Given the description of an element on the screen output the (x, y) to click on. 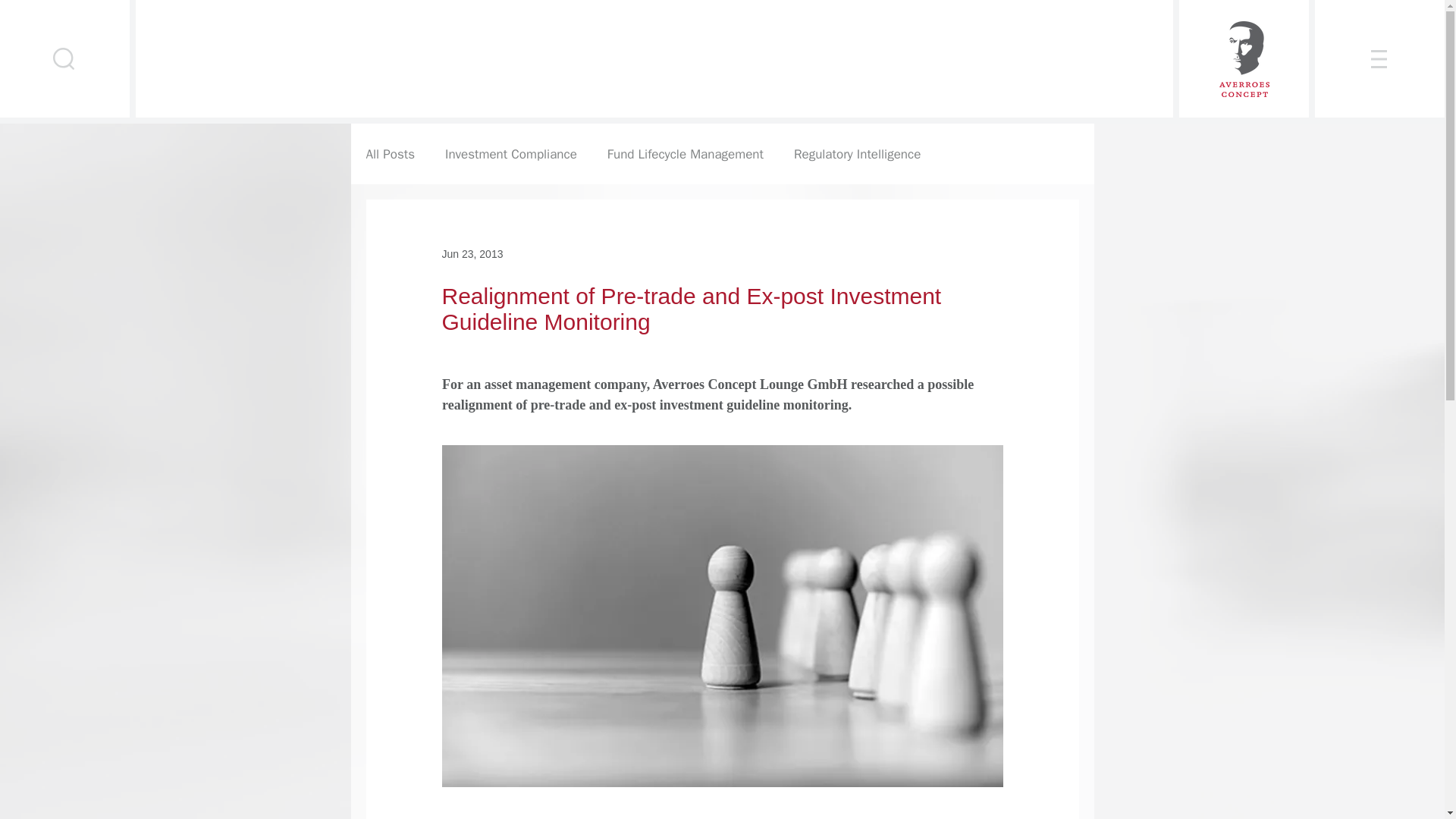
Fund Lifecycle Management (684, 153)
Regulatory Intelligence (856, 153)
Investment Compliance (510, 153)
All Posts (389, 153)
Jun 23, 2013 (471, 253)
